Given the description of an element on the screen output the (x, y) to click on. 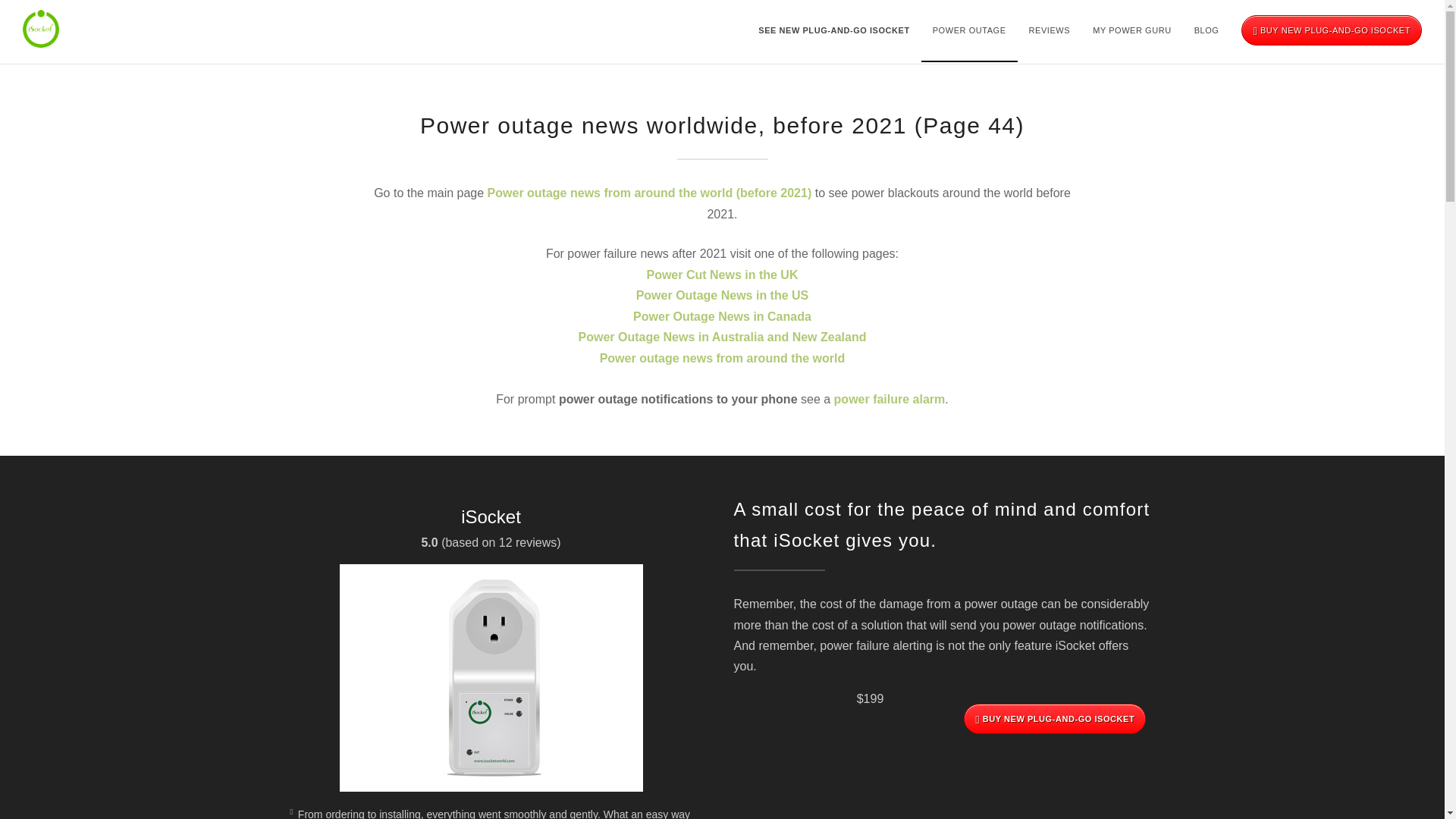
BUY NEW PLUG-AND-GO ISOCKET (1331, 30)
Power outage news from around the world (722, 358)
REVIEWS (1049, 29)
BUY NEW PLUG-AND-GO ISOCKET (1054, 718)
POWER OUTAGE (969, 29)
Power Outage News in Canada (721, 316)
Power Cut News in the UK (721, 274)
MY POWER GURU (1132, 29)
power failure alarm (889, 399)
Power Outage News in Australia and New Zealand (722, 336)
Home (41, 28)
Power Outage News in the US (722, 295)
SEE NEW PLUG-AND-GO ISOCKET (833, 29)
BLOG (1206, 29)
